Given the description of an element on the screen output the (x, y) to click on. 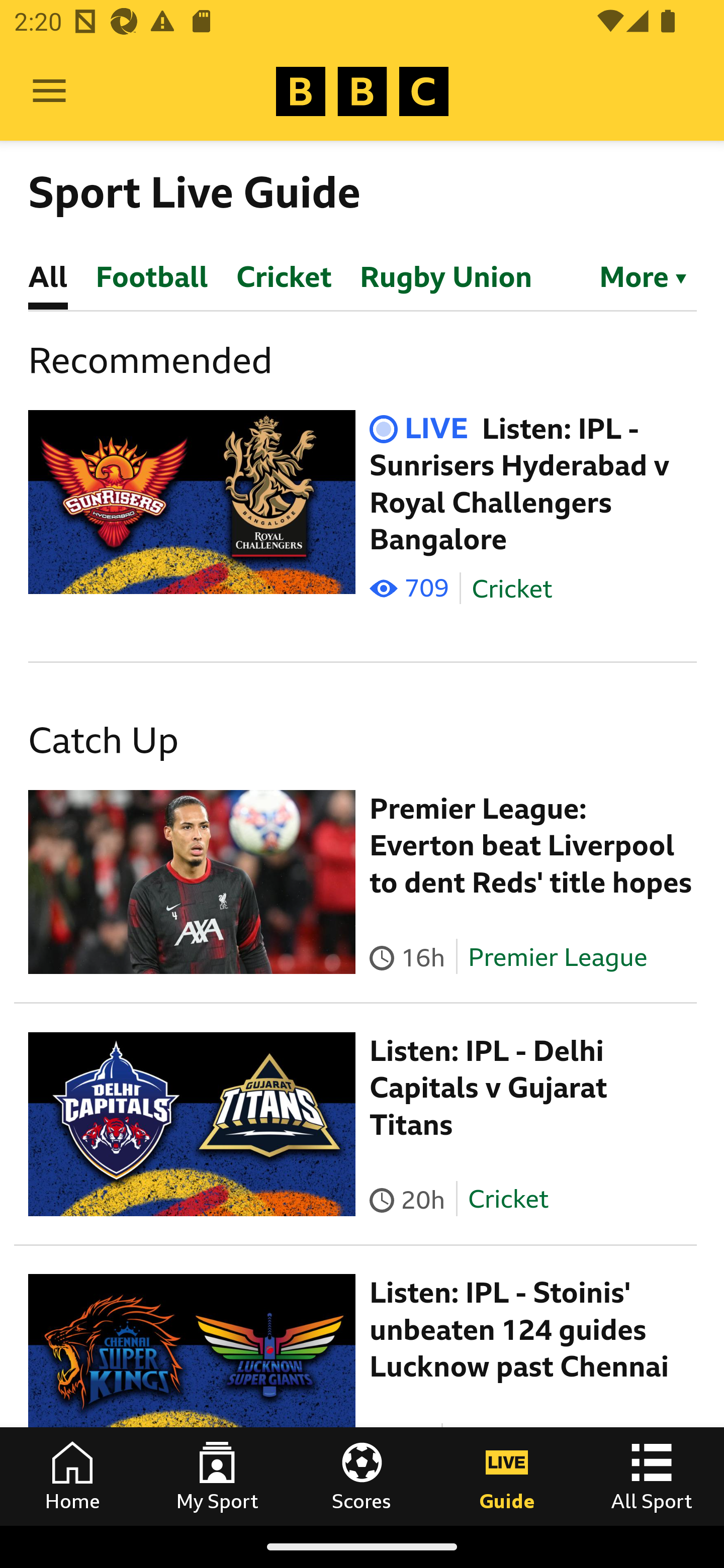
Open Menu (49, 91)
Cricket (511, 589)
Premier League (557, 956)
Listen: IPL - Delhi Capitals v Gujarat Titans (488, 1088)
Cricket (507, 1199)
Home (72, 1475)
My Sport (216, 1475)
Scores (361, 1475)
All Sport (651, 1475)
